Given the description of an element on the screen output the (x, y) to click on. 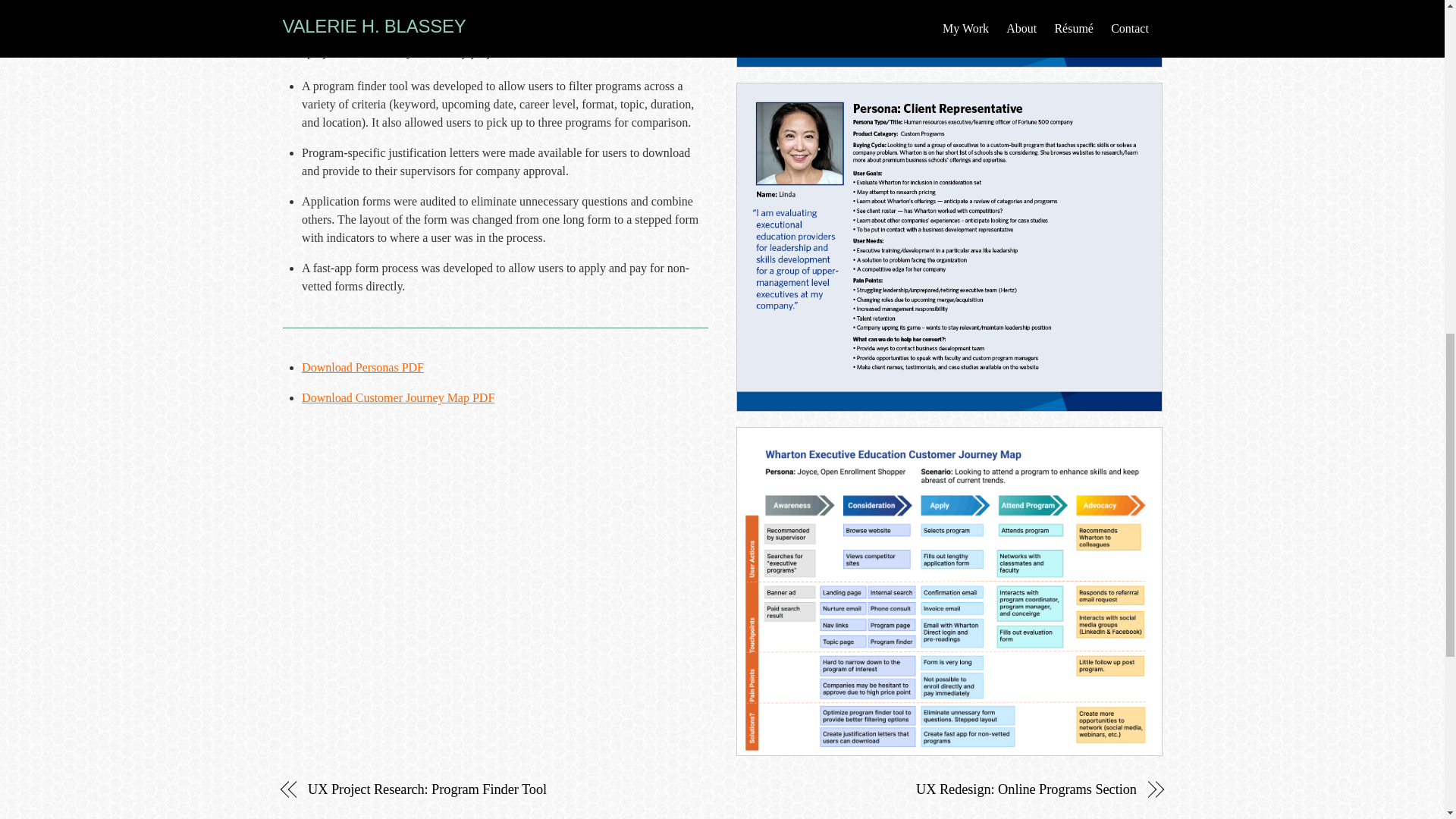
Download Personas PDF (362, 367)
wharton-personas-1 (948, 33)
Download Customer Journey Map PDF (398, 397)
UX Redesign: Online Programs Section (942, 789)
UX Project Research: Program Finder Tool (501, 789)
